Given the description of an element on the screen output the (x, y) to click on. 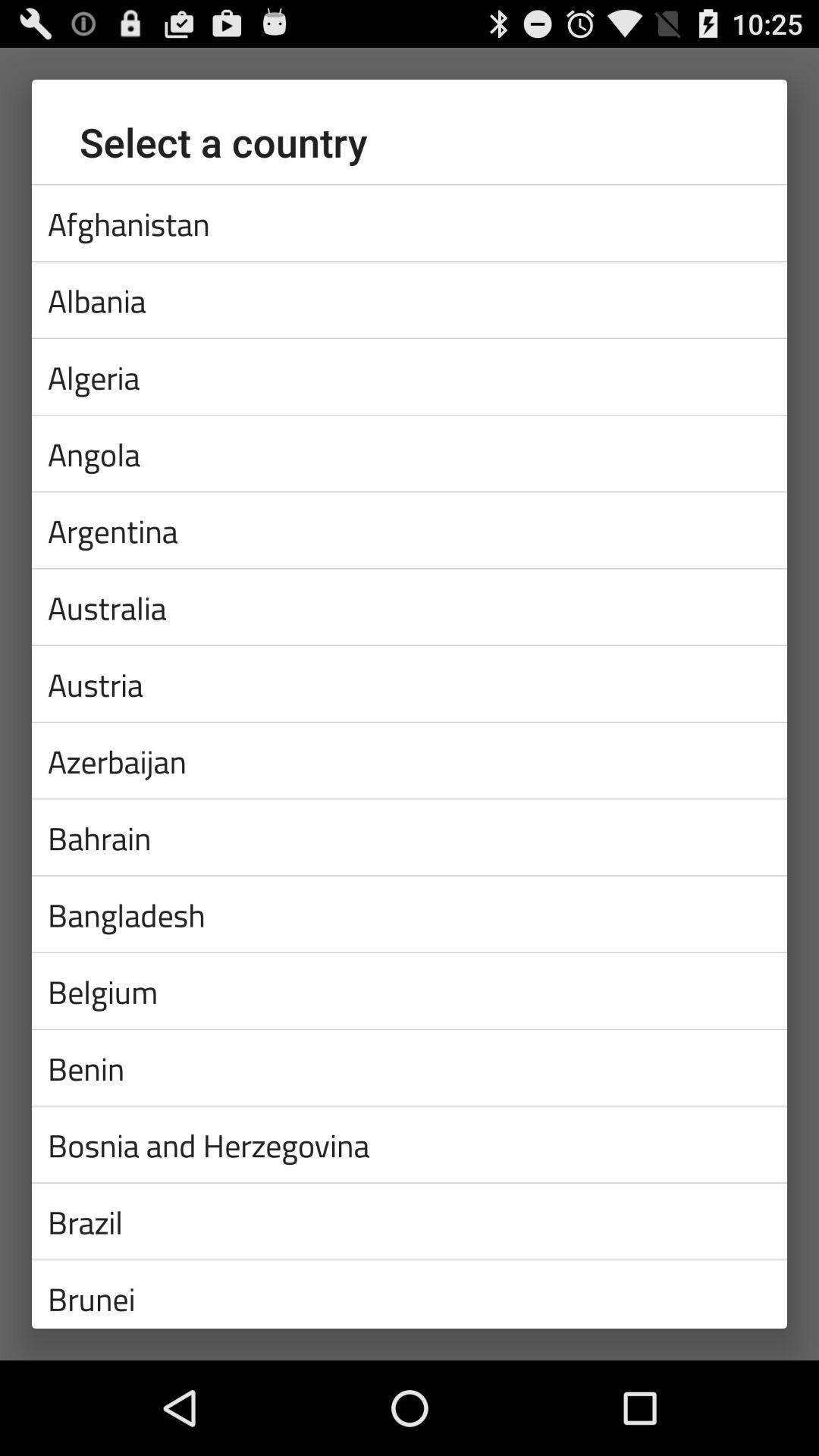
flip until the benin (409, 1067)
